Given the description of an element on the screen output the (x, y) to click on. 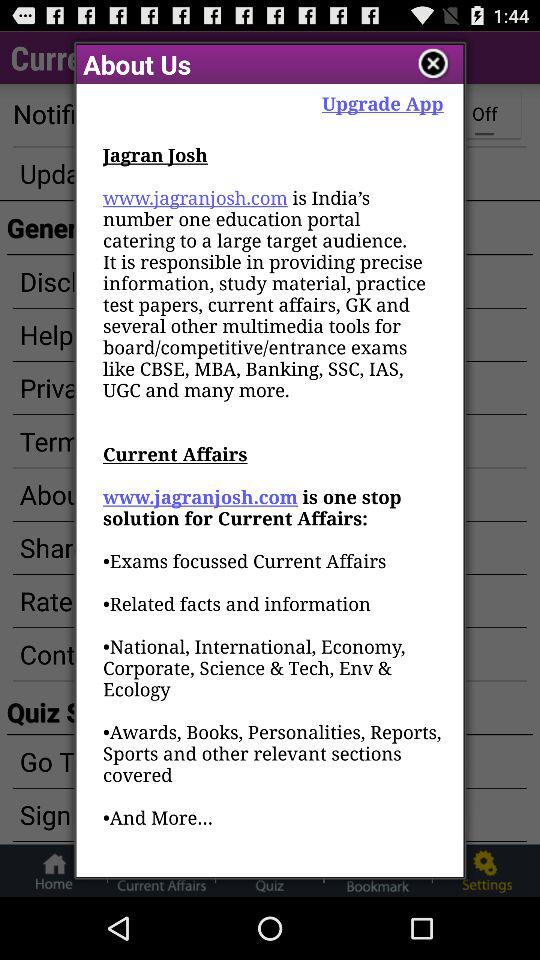
close notes (433, 63)
